Given the description of an element on the screen output the (x, y) to click on. 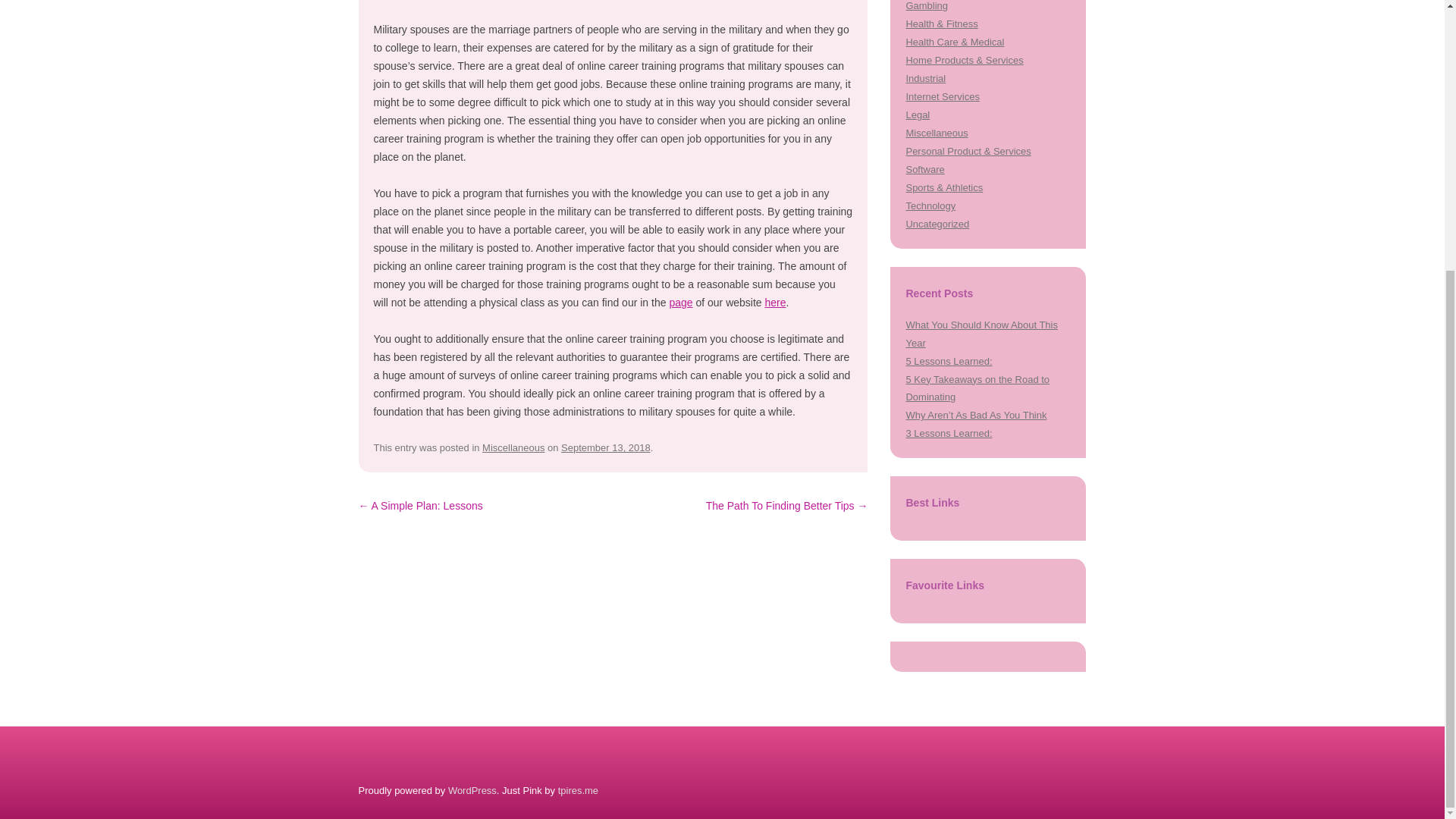
Miscellaneous (512, 447)
Miscellaneous (936, 132)
What You Should Know About This Year (981, 333)
5 Lessons Learned: (948, 360)
3 Lessons Learned: (948, 432)
Legal (917, 114)
tpires.me (577, 790)
Semantic Personal Publishing Platform (472, 790)
Industrial (924, 78)
2:07 am (605, 447)
5 Key Takeaways on the Road to Dominating (977, 387)
Gambling (926, 5)
Technology (930, 205)
Software (924, 169)
here (775, 302)
